Given the description of an element on the screen output the (x, y) to click on. 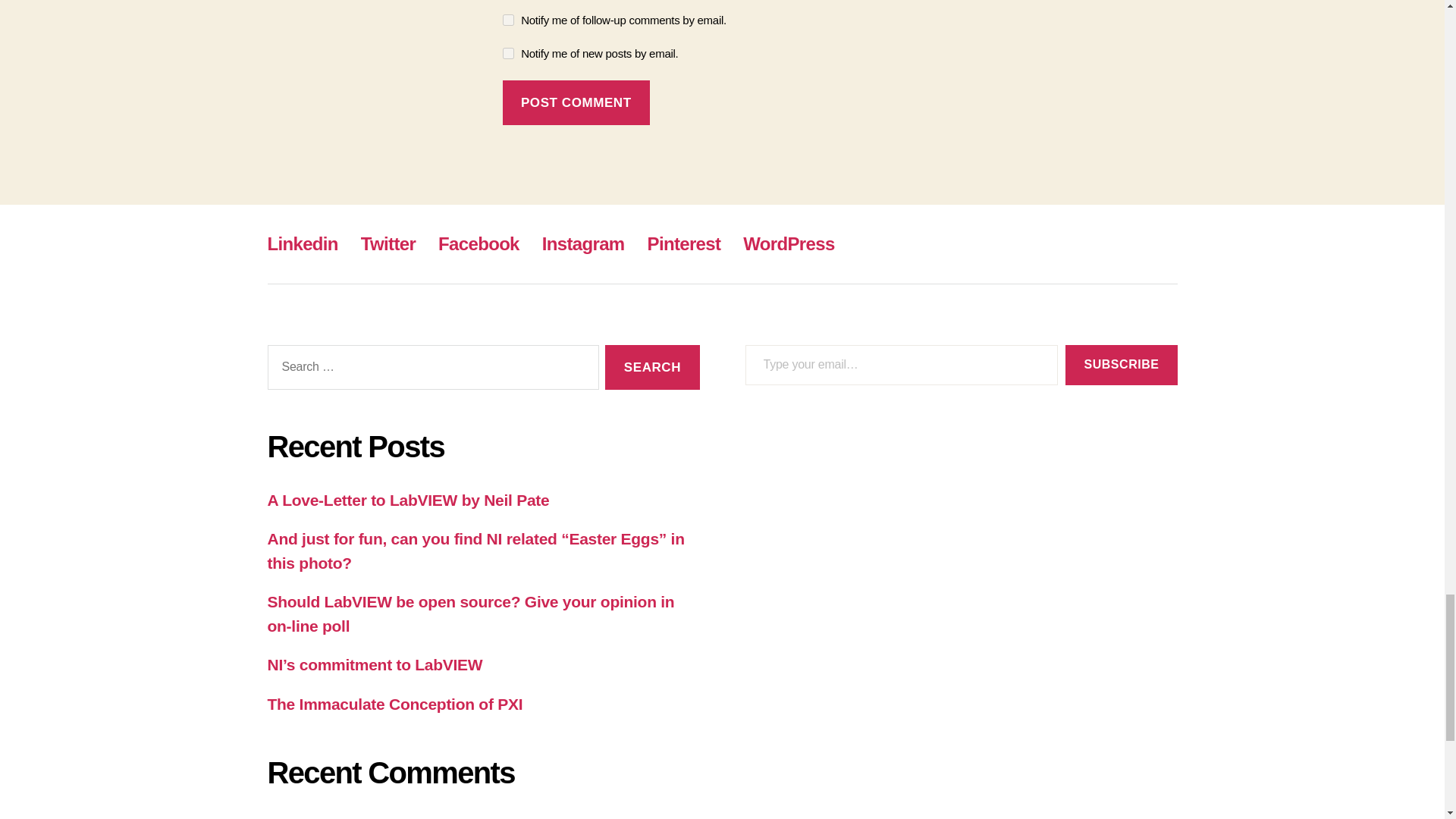
Search (651, 366)
Please fill in this field. (901, 364)
Post Comment (575, 102)
subscribe (507, 52)
Search (651, 366)
subscribe (507, 19)
